Given the description of an element on the screen output the (x, y) to click on. 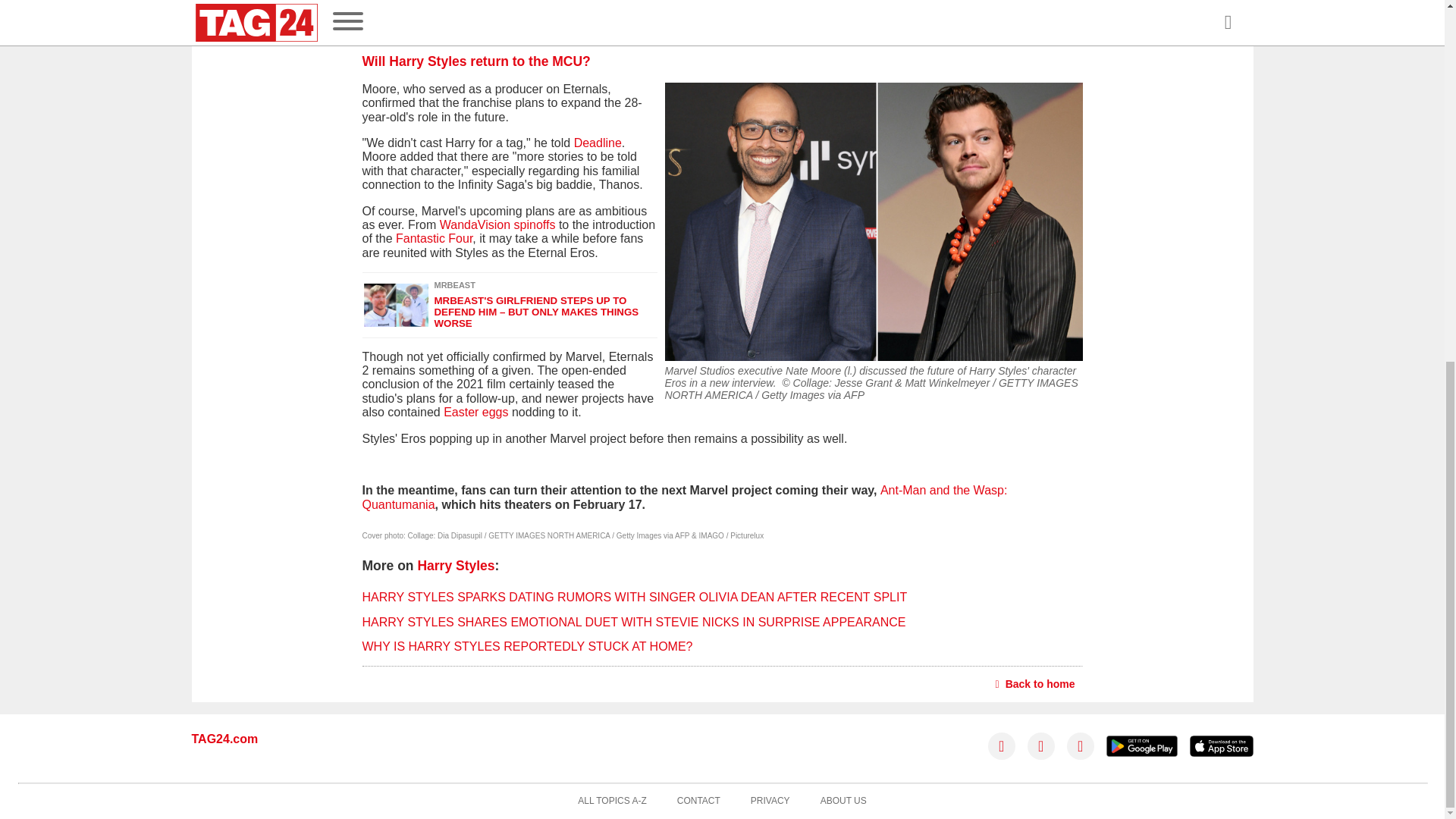
Ant-Man and the Wasp: Quantumania (684, 497)
Back to home (1035, 683)
Fantastic Four (433, 237)
Easter eggs (474, 411)
WHY IS HARRY STYLES REPORTEDLY STUCK AT HOME? (527, 645)
Deadline (597, 142)
Harry Styles (455, 565)
WandaVision spinoffs (497, 224)
